Given the description of an element on the screen output the (x, y) to click on. 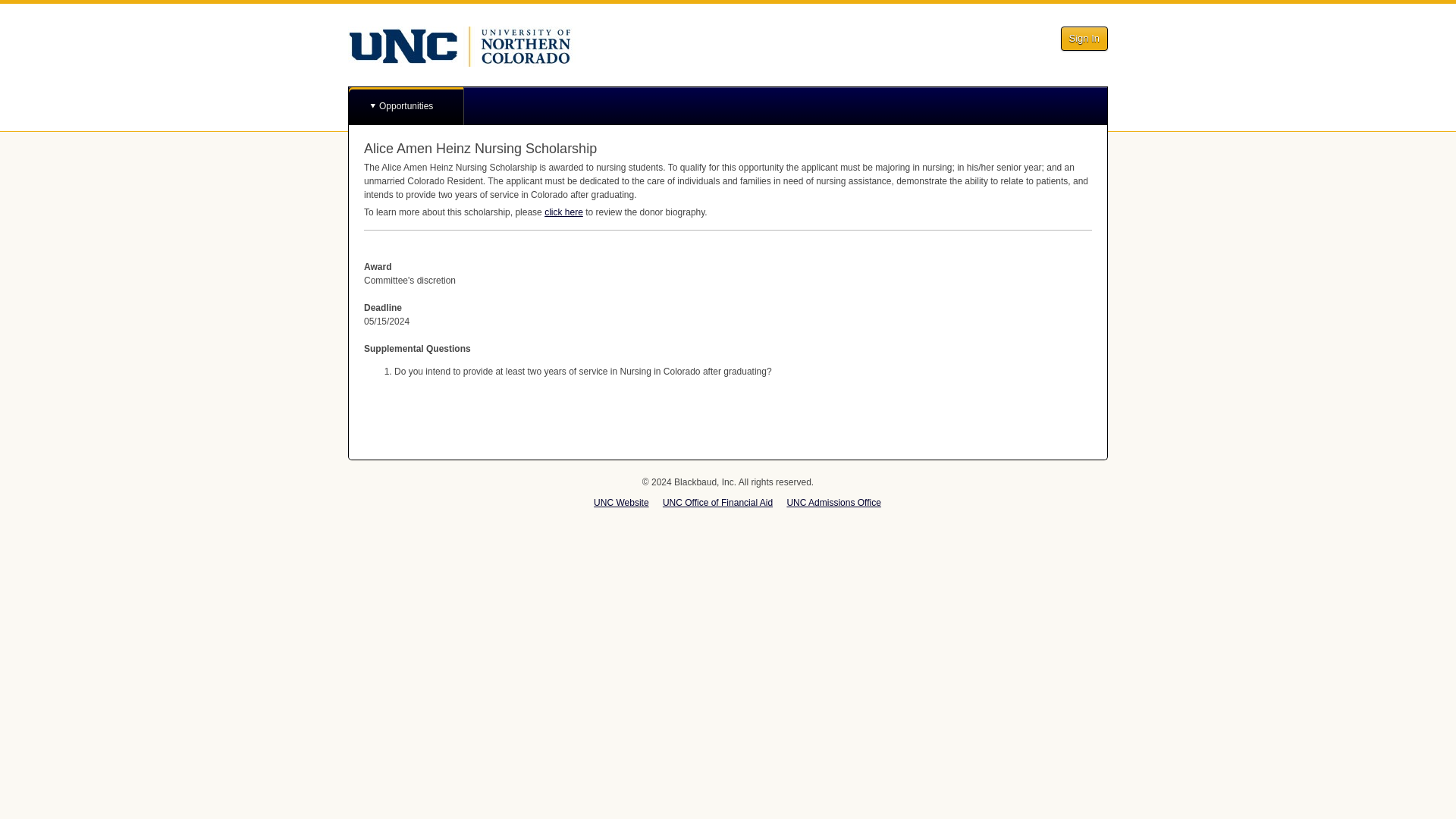
UNC Website (620, 502)
Opportunities (406, 105)
Sign In (1084, 38)
UNC Admissions Office (833, 502)
UNC Scholarship Application (461, 46)
UNC Office of Financial Aid (717, 502)
click here (563, 212)
